Given the description of an element on the screen output the (x, y) to click on. 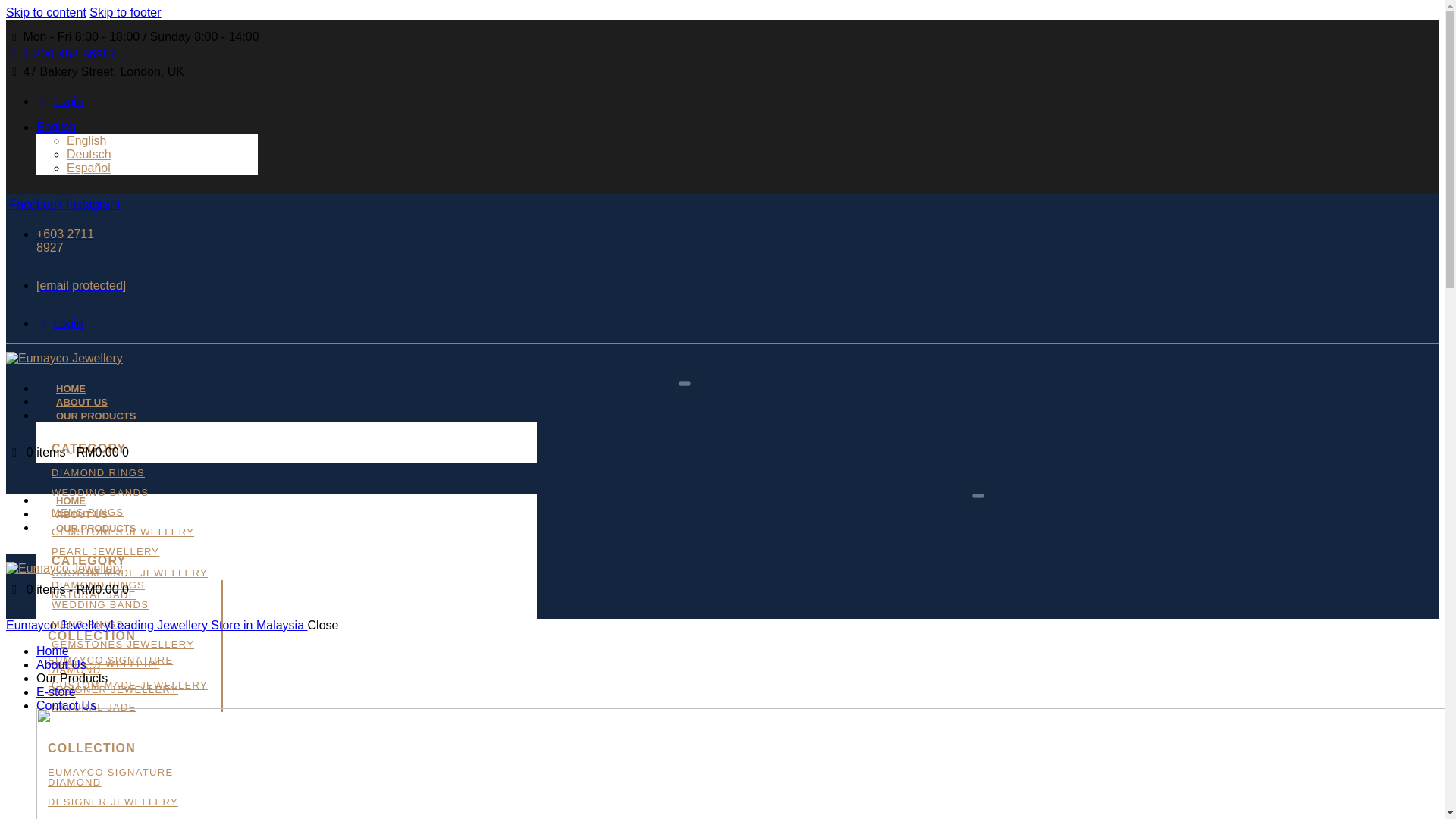
PEARL JEWELLERY (104, 551)
EUMAYCO SIGNATURE DIAMOND (110, 664)
1-800-458-56987 (60, 53)
Deutsch (89, 154)
Skip to content (45, 11)
English (86, 140)
NATURAL JADE (93, 594)
DESIGNER JEWELLERY (112, 689)
DIAMOND RINGS (97, 472)
CUSTOM-MADE JEWELLERY (129, 572)
Login (59, 323)
Login (59, 101)
MENS RINGS (86, 511)
Facebook (36, 204)
ABOUT US (82, 401)
